Given the description of an element on the screen output the (x, y) to click on. 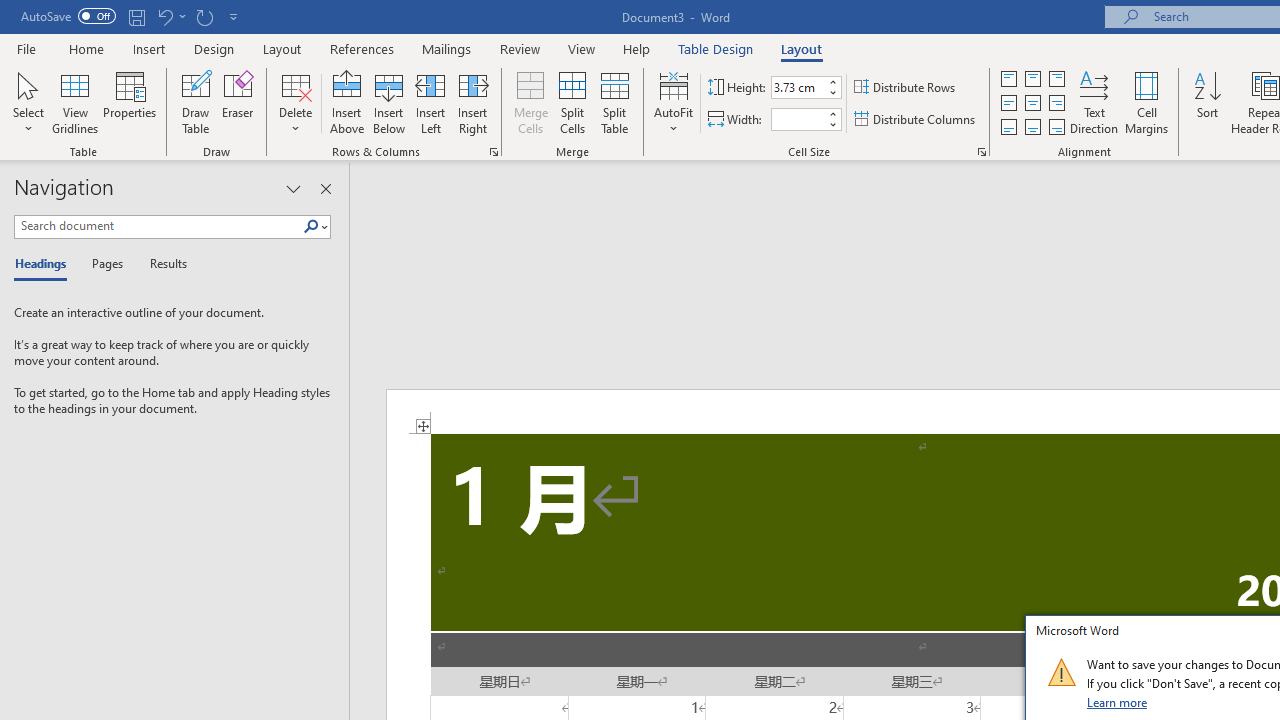
Insert (149, 48)
AutoSave (68, 16)
System (10, 11)
Layout (801, 48)
Pages (105, 264)
Insert Below (388, 102)
